Given the description of an element on the screen output the (x, y) to click on. 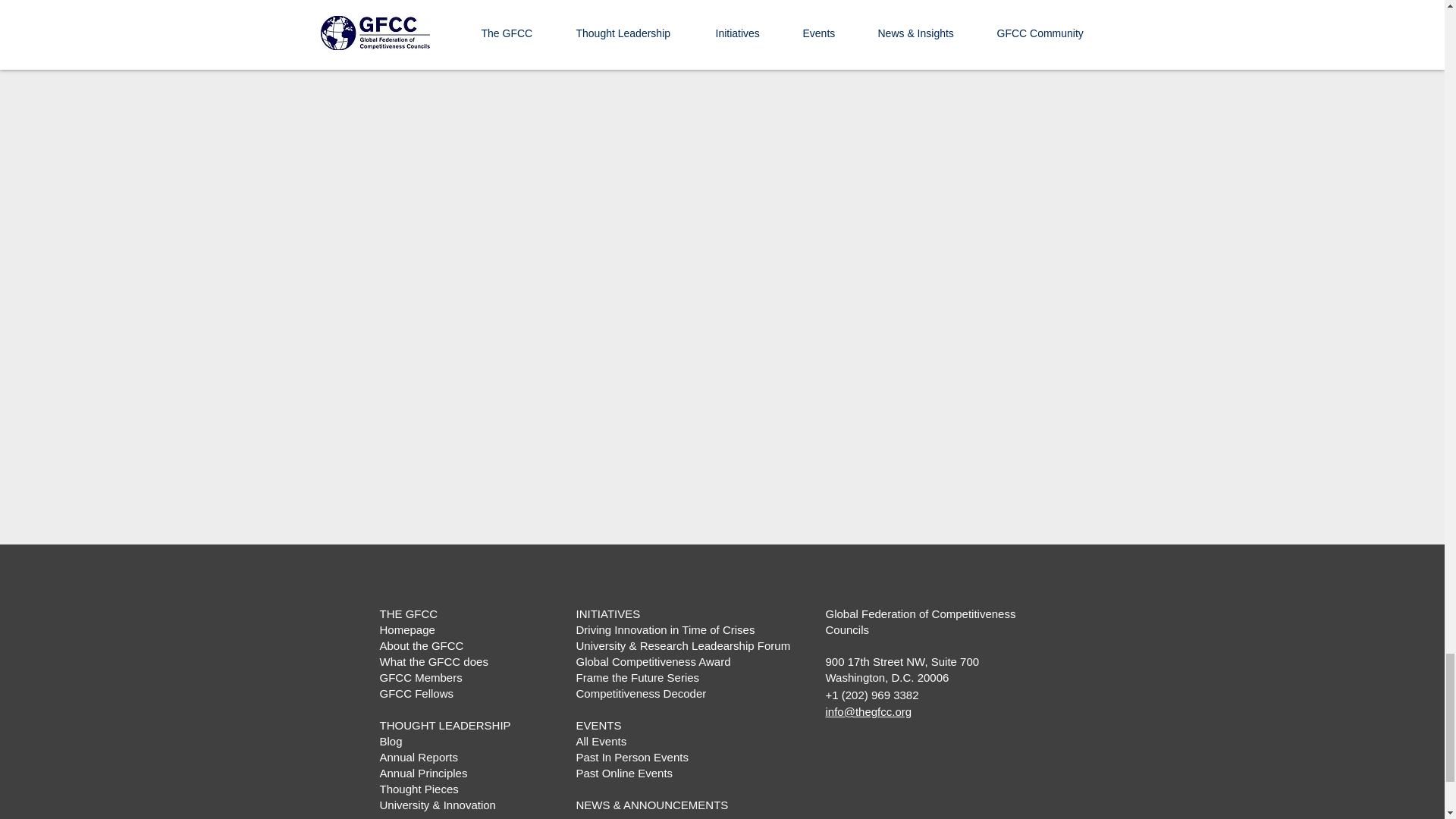
Blog (389, 740)
Thought Pieces (418, 788)
Annual Reports (417, 757)
GFCC Members (419, 676)
What the GFCC does (432, 661)
Homepage (405, 629)
Annual Principles (422, 772)
GFCC Fellows (415, 693)
About the GFCC (420, 645)
